Given the description of an element on the screen output the (x, y) to click on. 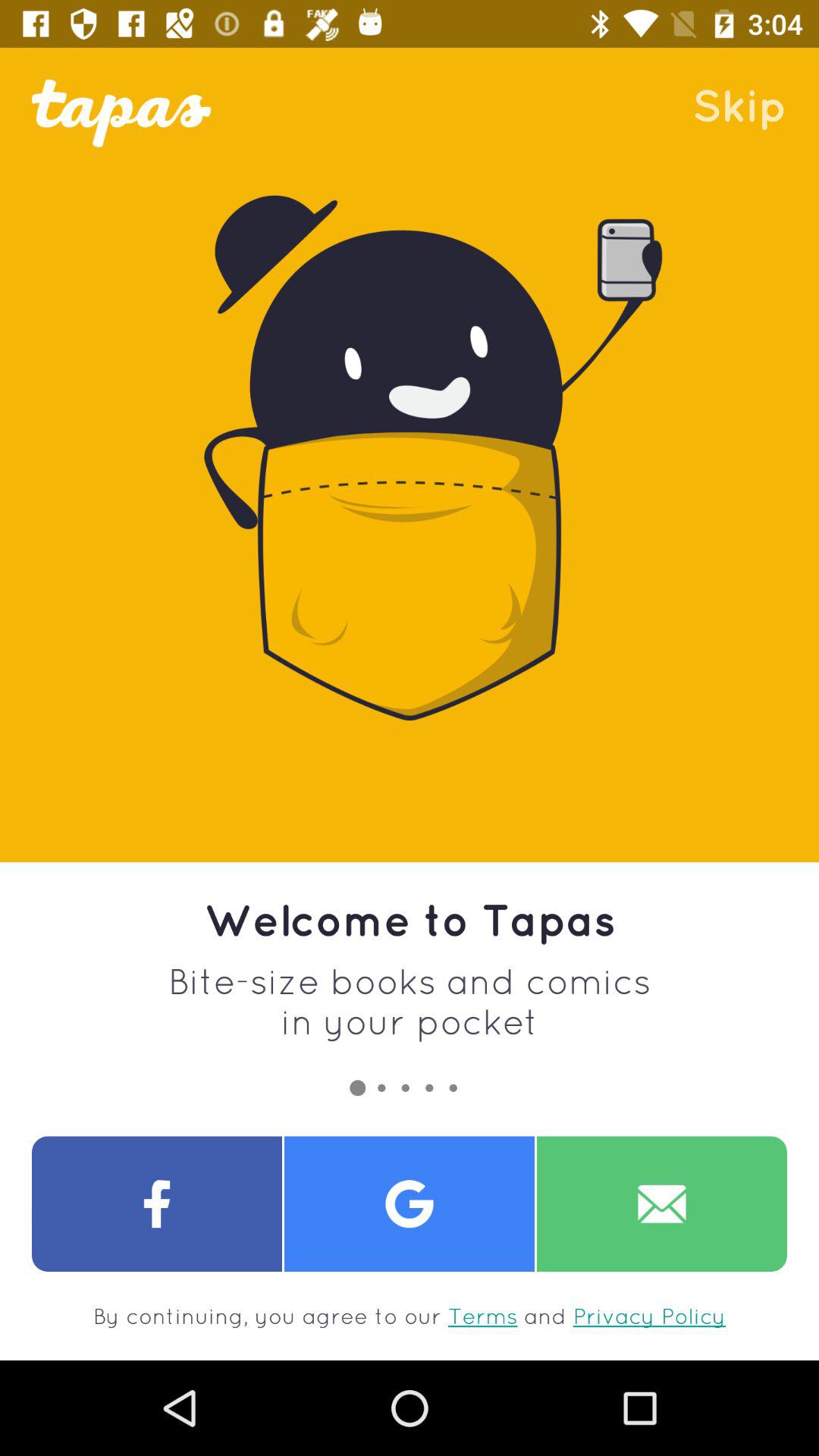
share the article (409, 1203)
